Given the description of an element on the screen output the (x, y) to click on. 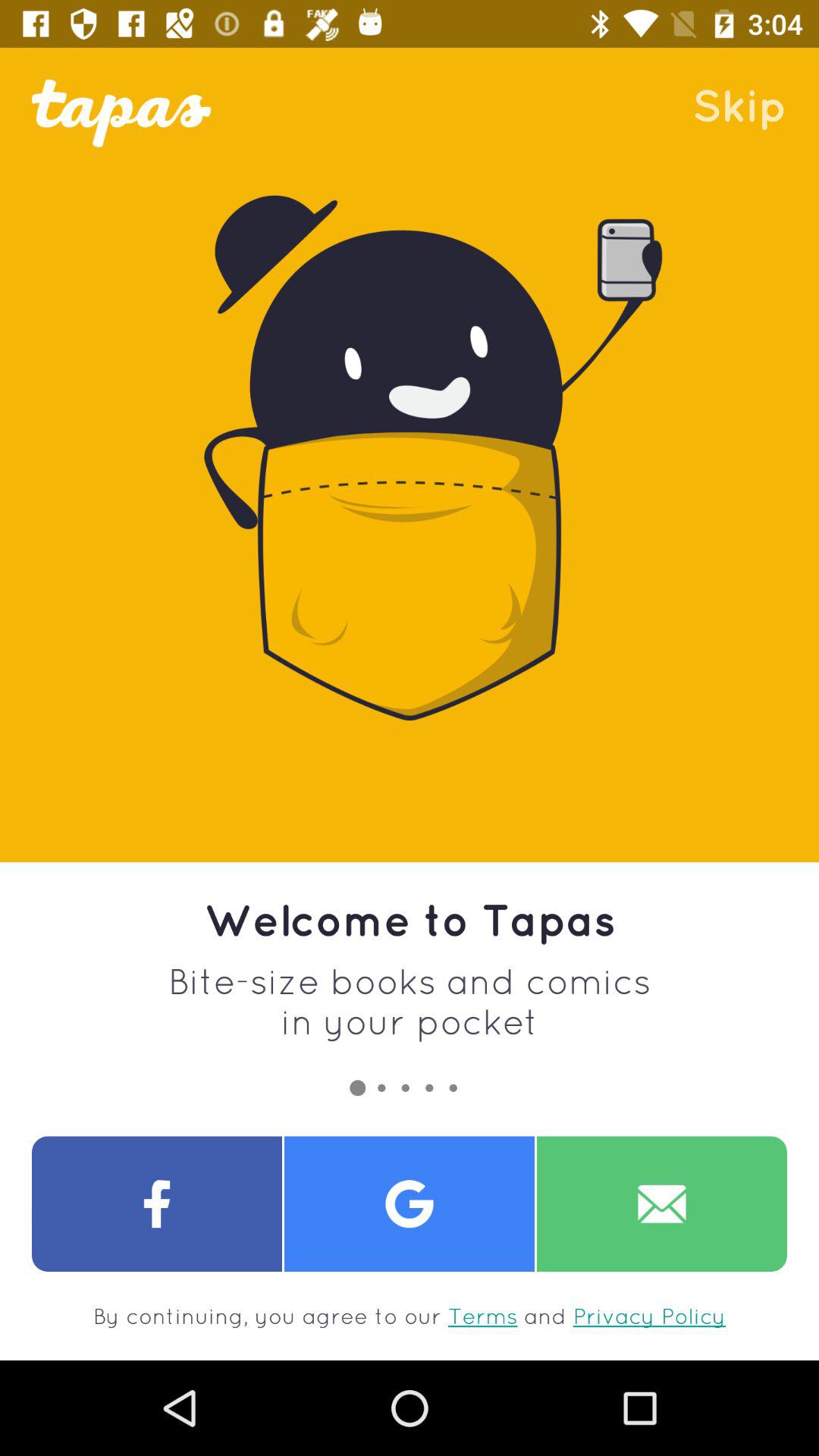
share the article (409, 1203)
